Given the description of an element on the screen output the (x, y) to click on. 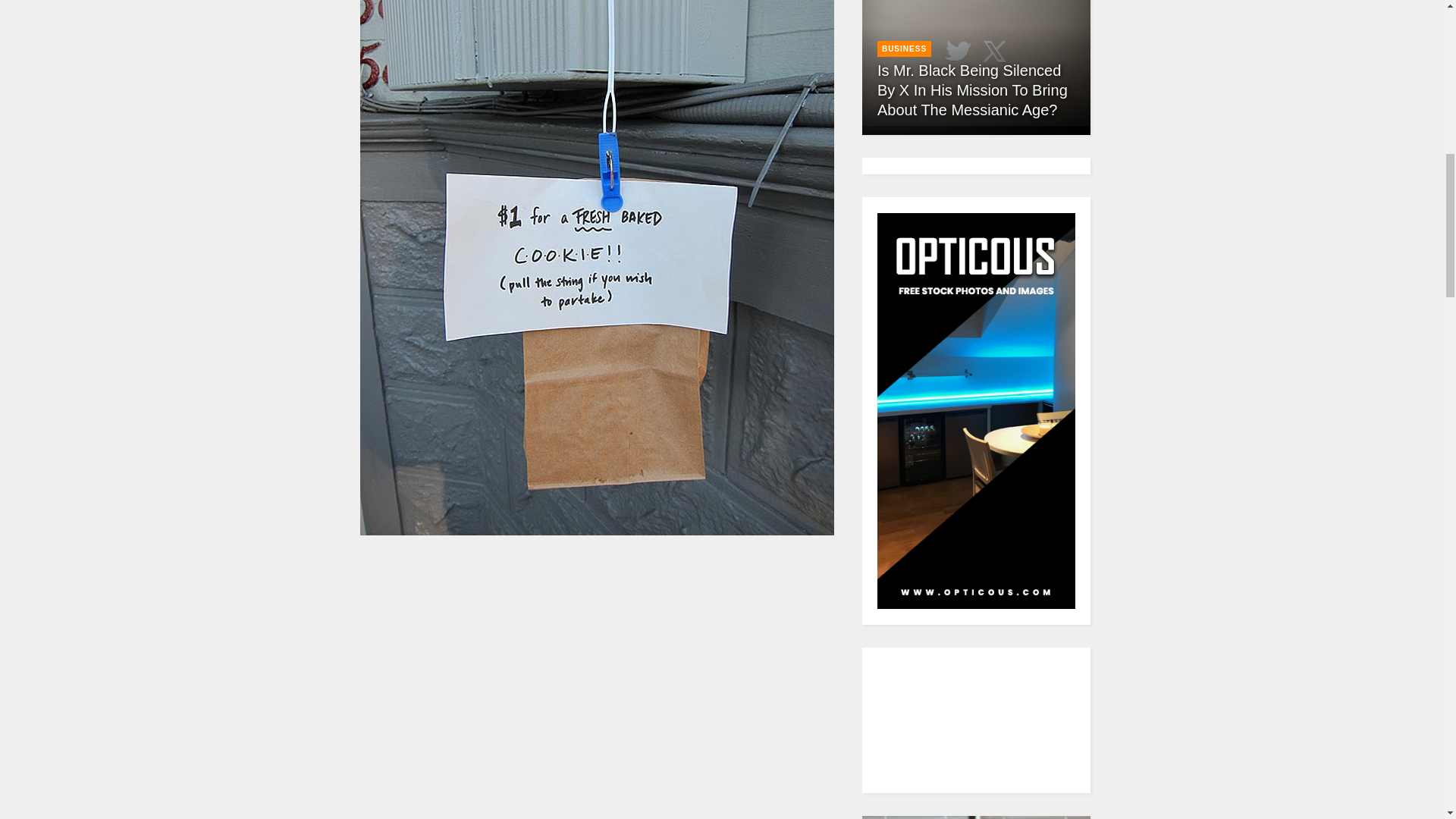
Fat Cookies Window Service Business (596, 687)
